Given the description of an element on the screen output the (x, y) to click on. 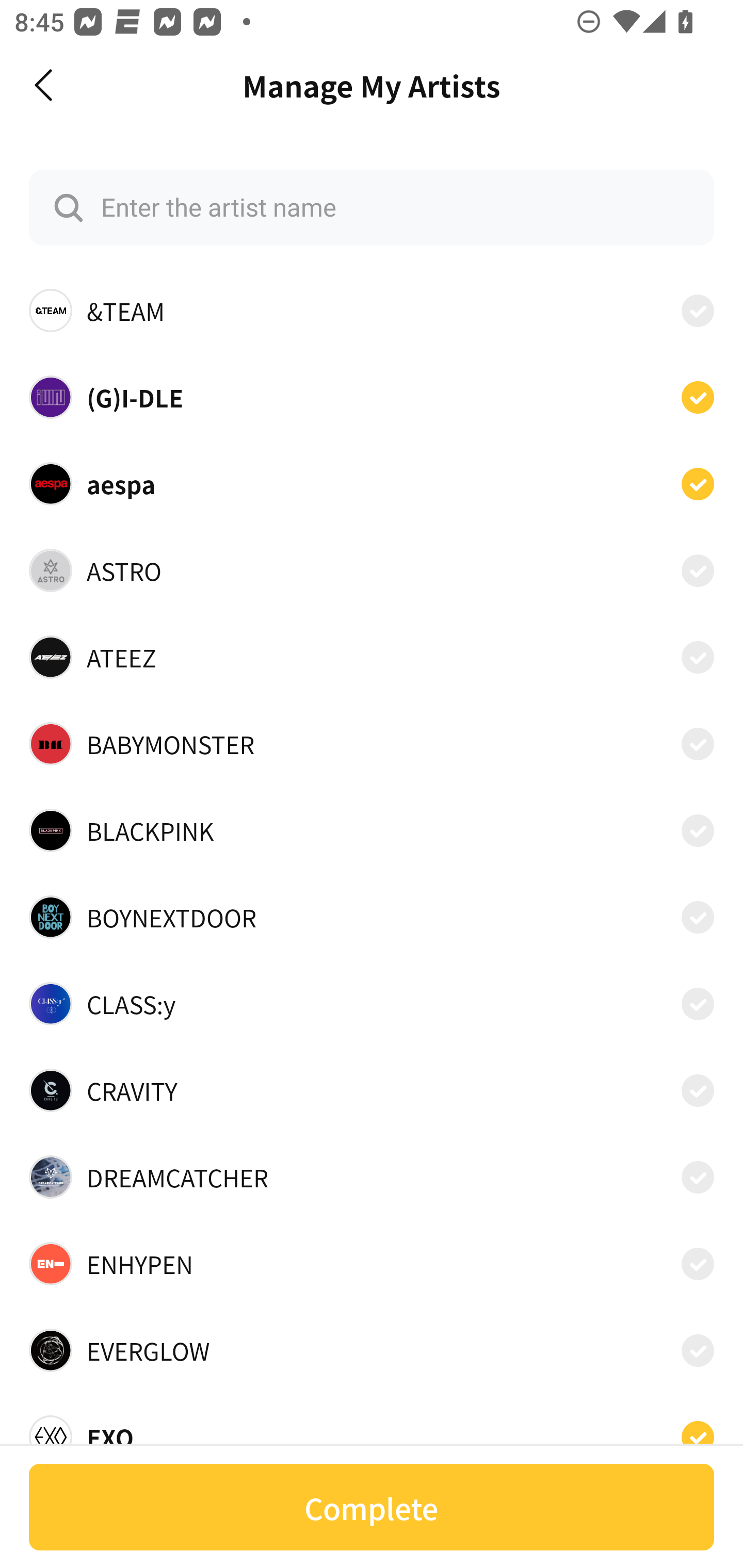
Enter the artist name (371, 207)
&TEAM (371, 310)
(G)I-DLE (371, 396)
aespa (371, 483)
ASTRO (371, 570)
ATEEZ (371, 656)
BABYMONSTER (371, 743)
BLACKPINK (371, 830)
BOYNEXTDOOR (371, 917)
CLASS:y (371, 1003)
CRAVITY (371, 1090)
DREAMCATCHER (371, 1176)
ENHYPEN (371, 1263)
EVERGLOW (371, 1350)
EXO (371, 1430)
Complete (371, 1507)
